Given the description of an element on the screen output the (x, y) to click on. 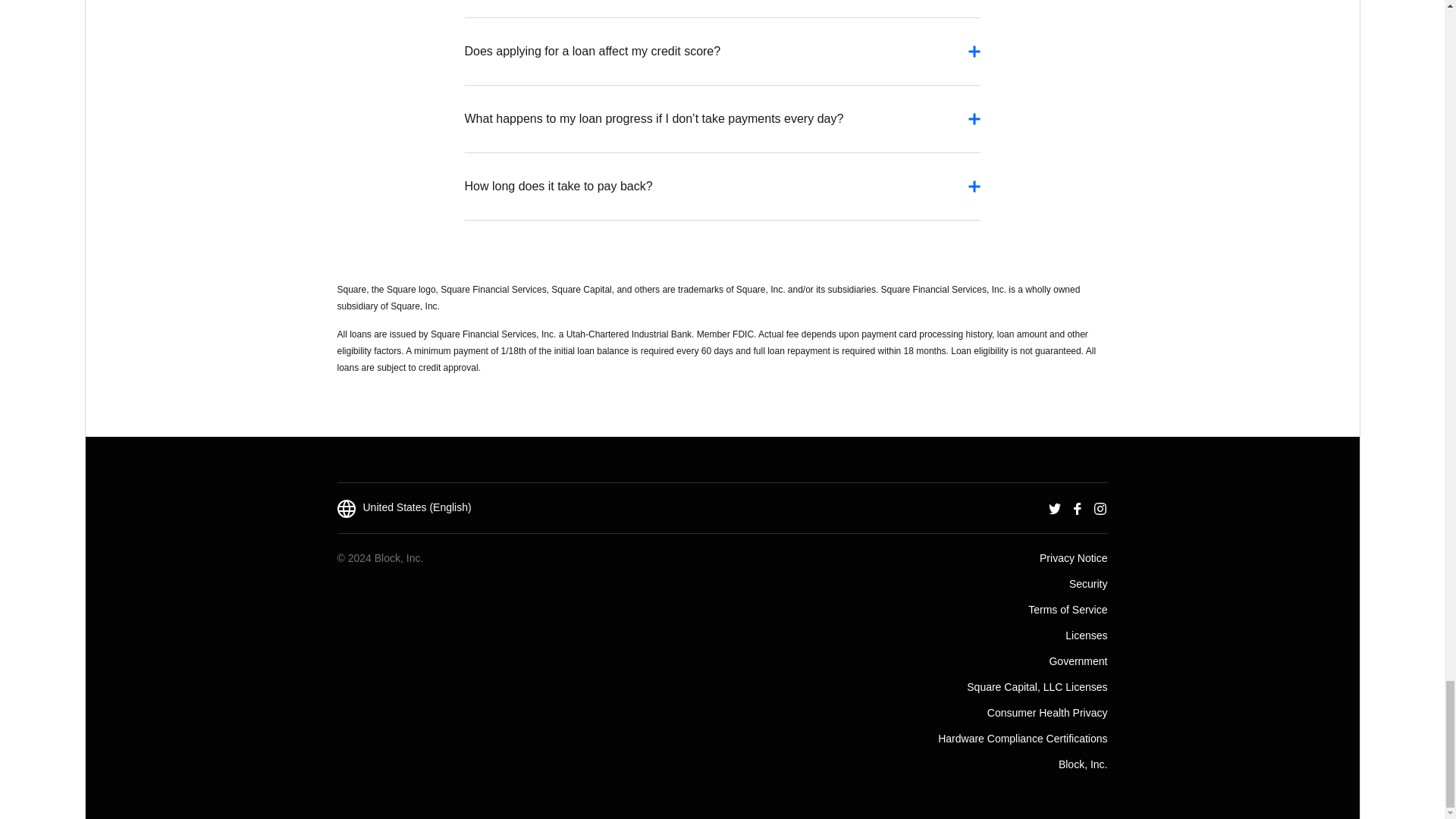
Does applying for a loan affect my credit score? (721, 58)
Terms of Service (1066, 608)
How long does it take to pay back? (721, 194)
What are the fees? (721, 4)
Square Capital, LLC Licenses (1036, 686)
Consumer Health Privacy (1047, 711)
Facebook (1076, 507)
Twitter (1053, 507)
Hardware Compliance Certifications (1021, 737)
Instagram (1099, 507)
Privacy Notice (1072, 557)
Licenses (1085, 634)
Security (1088, 582)
Block, Inc. (1083, 763)
Government (1077, 660)
